Given the description of an element on the screen output the (x, y) to click on. 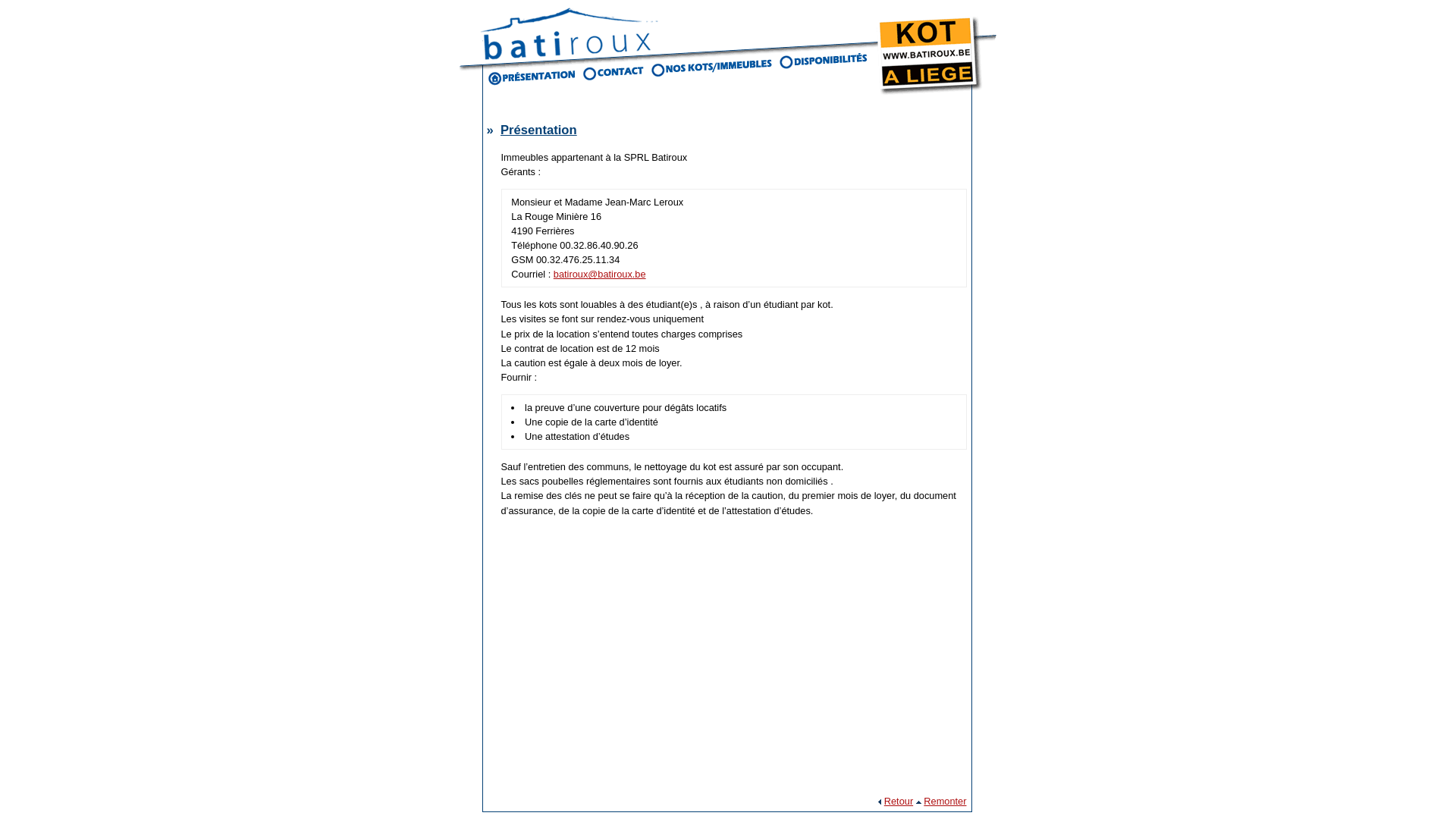
Retour Element type: text (898, 800)
batiroux@batiroux.be Element type: text (599, 273)
Remonter Element type: text (944, 800)
